Given the description of an element on the screen output the (x, y) to click on. 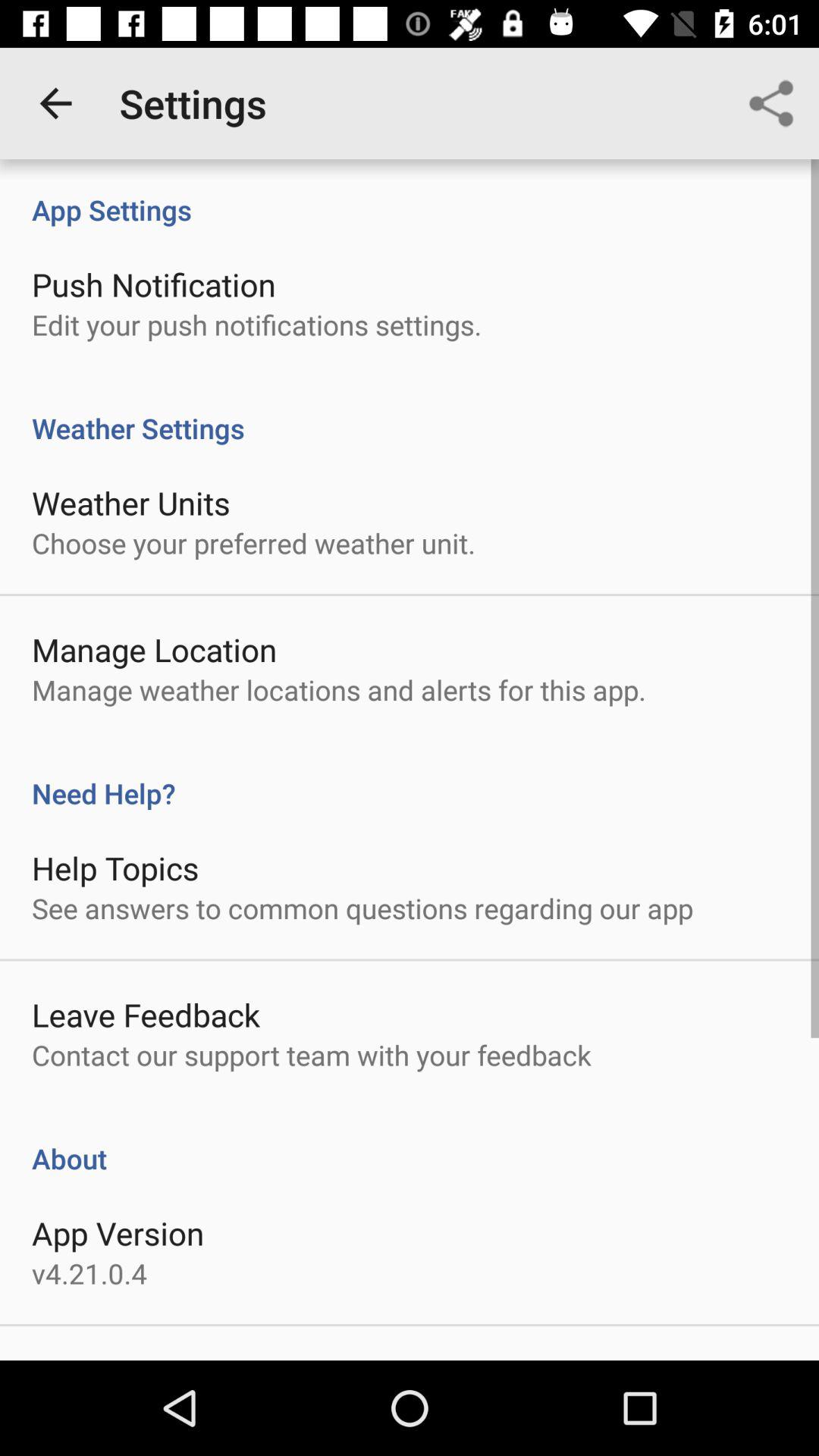
flip to app settings icon (409, 193)
